Given the description of an element on the screen output the (x, y) to click on. 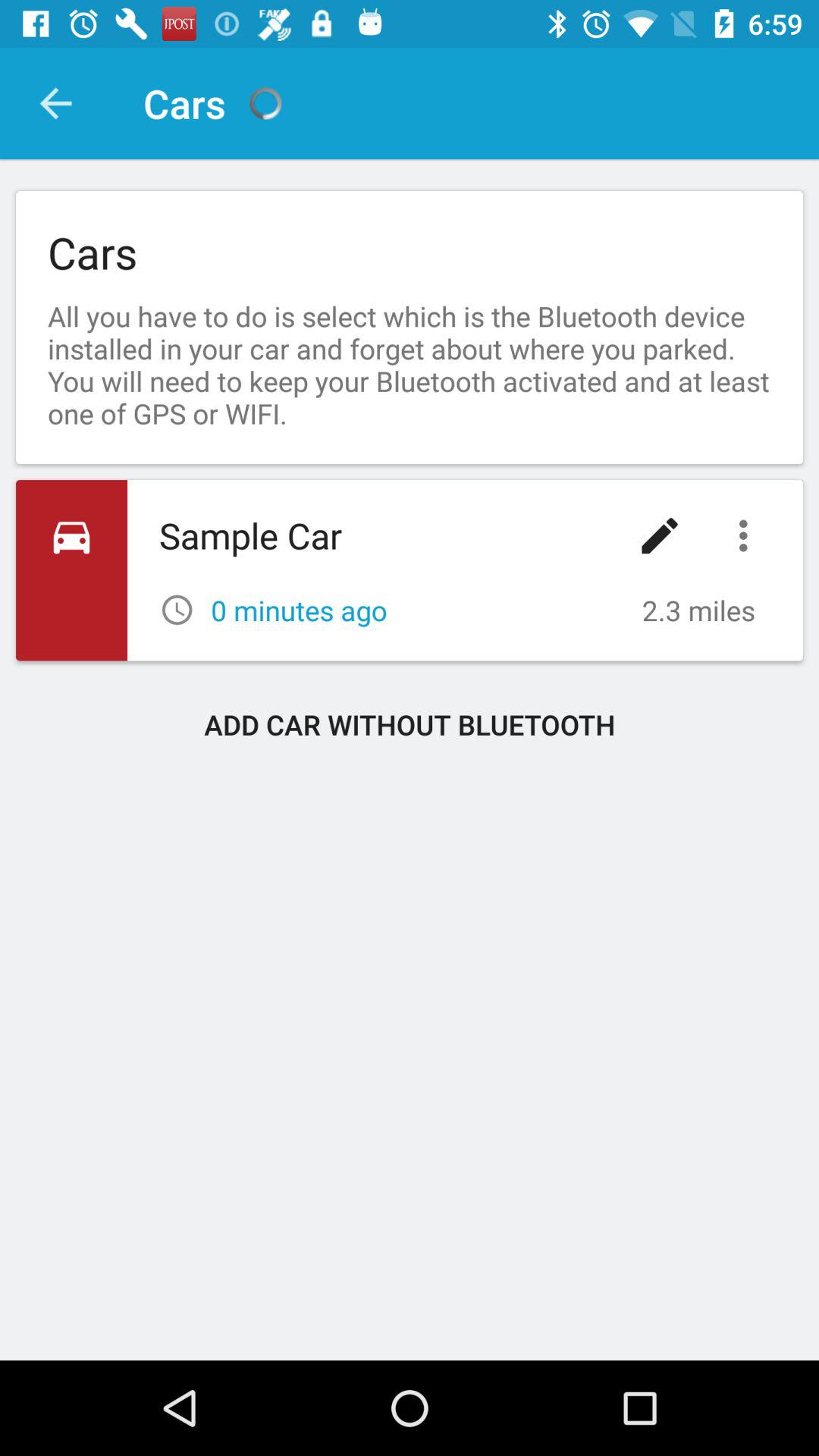
tap icon to the right of sample car icon (659, 535)
